Given the description of an element on the screen output the (x, y) to click on. 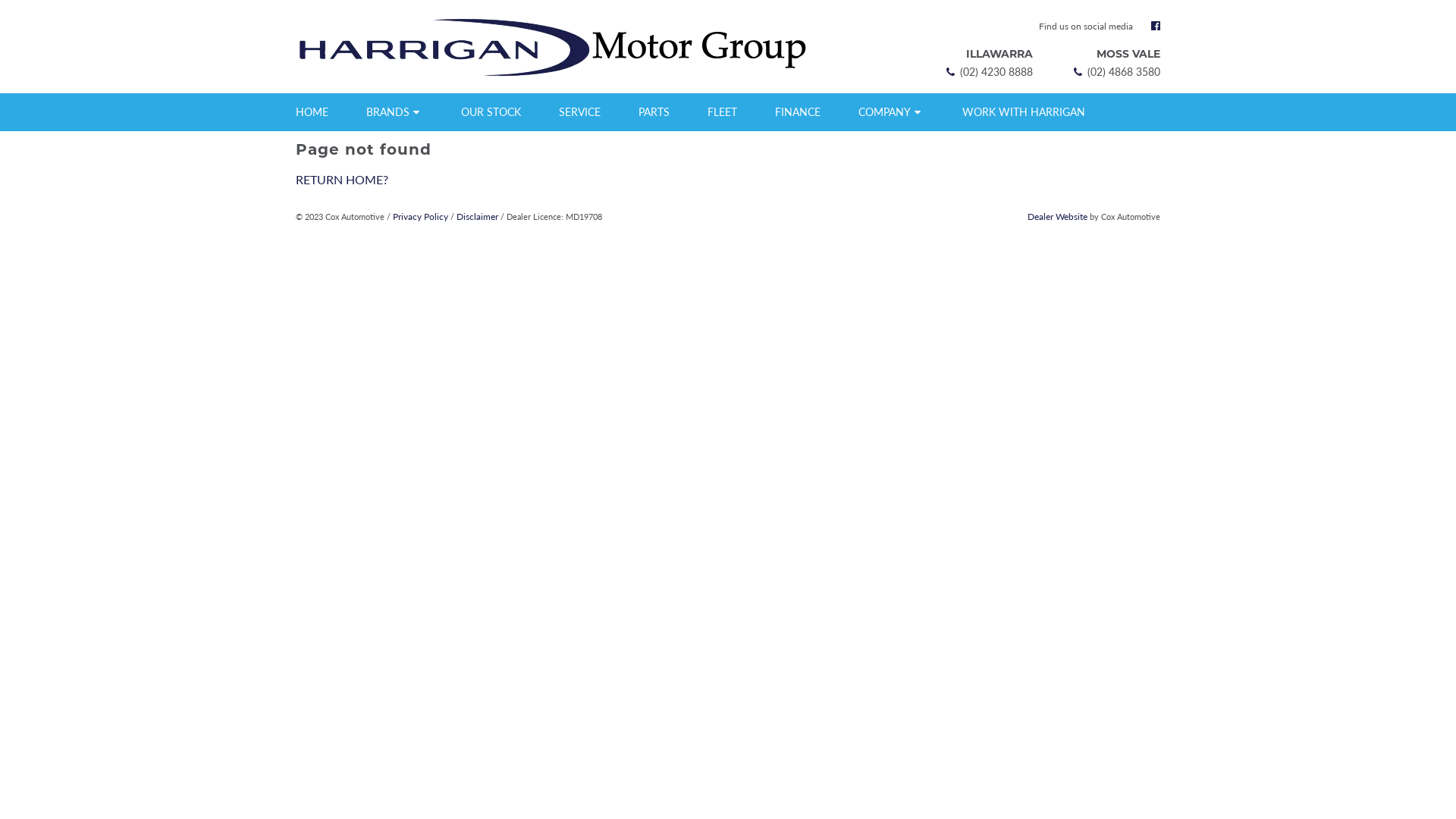
FLEET Element type: text (722, 112)
PARTS Element type: text (653, 112)
Facebook Element type: hover (1155, 25)
(02) 4230 8888 Element type: text (987, 71)
Dealer Website Element type: text (1057, 216)
SERVICE Element type: text (579, 112)
Disclaimer Element type: text (477, 216)
OUR STOCK Element type: text (490, 112)
BRANDS Element type: text (394, 112)
COMPANY Element type: text (891, 112)
HOME Element type: text (313, 112)
(02) 4868 3580 Element type: text (1115, 71)
FINANCE Element type: text (797, 112)
WORK WITH HARRIGAN Element type: text (1023, 112)
RETURN HOME? Element type: text (341, 179)
Privacy Policy Element type: text (420, 216)
